Given the description of an element on the screen output the (x, y) to click on. 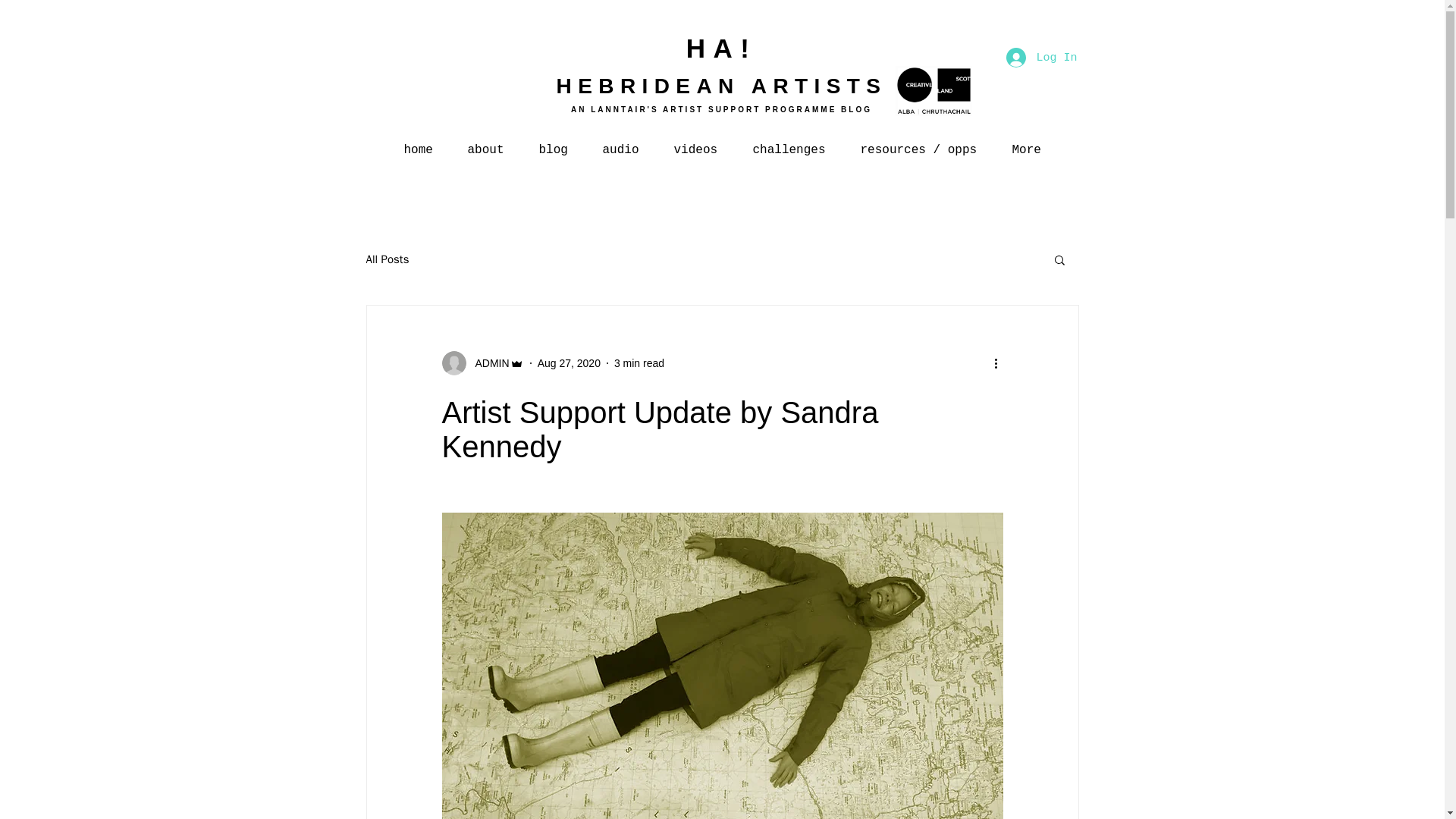
audio (620, 143)
challenges (789, 143)
videos (695, 143)
Log In (1040, 57)
Aug 27, 2020 (568, 362)
about (485, 143)
All Posts (387, 258)
3 min read (638, 362)
HA! (721, 48)
ADMIN (486, 362)
home (418, 143)
ADMIN (481, 363)
blog (553, 143)
HEBRIDEAN ARTISTS (721, 85)
